Given the description of an element on the screen output the (x, y) to click on. 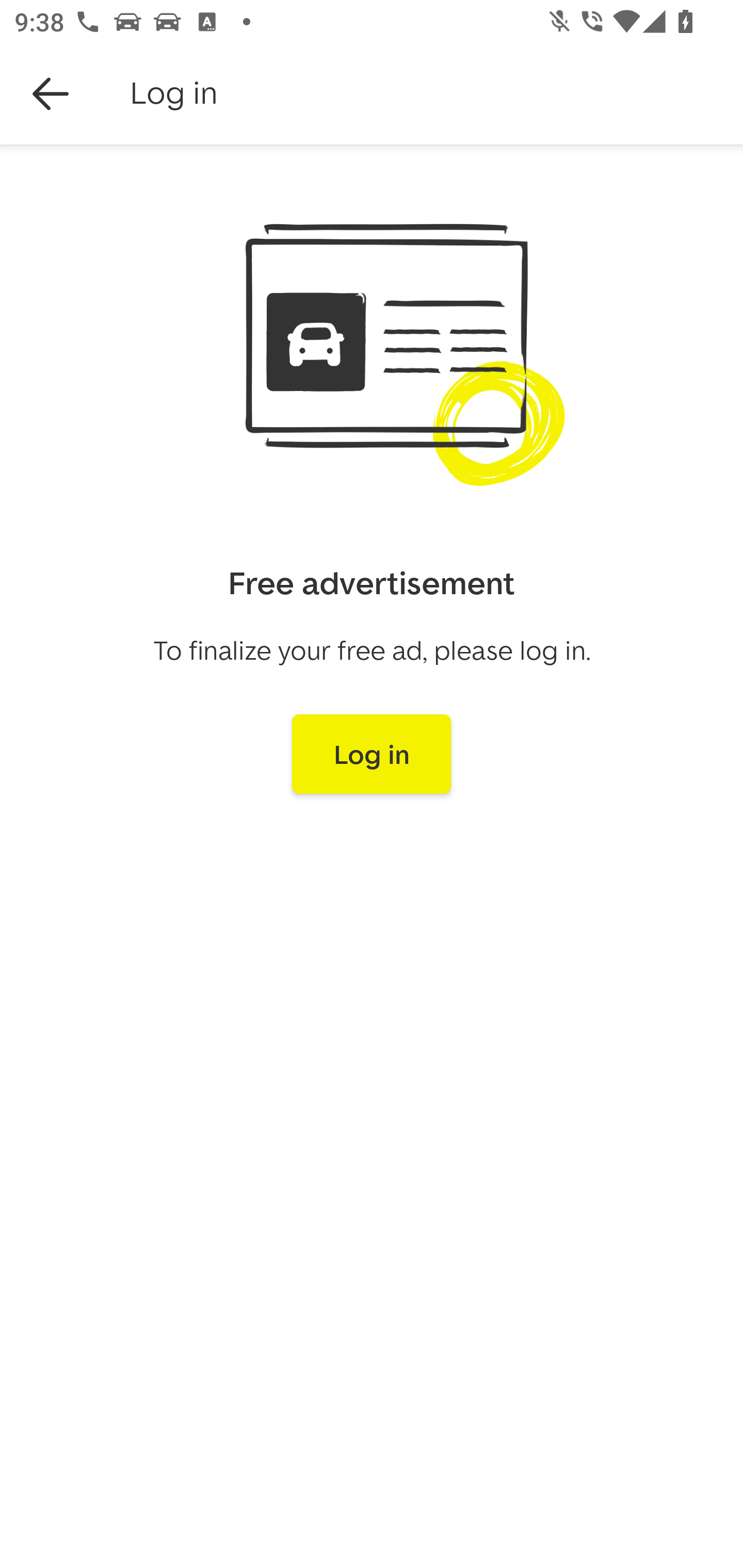
Navigate up (50, 93)
Log in (371, 754)
